Given the description of an element on the screen output the (x, y) to click on. 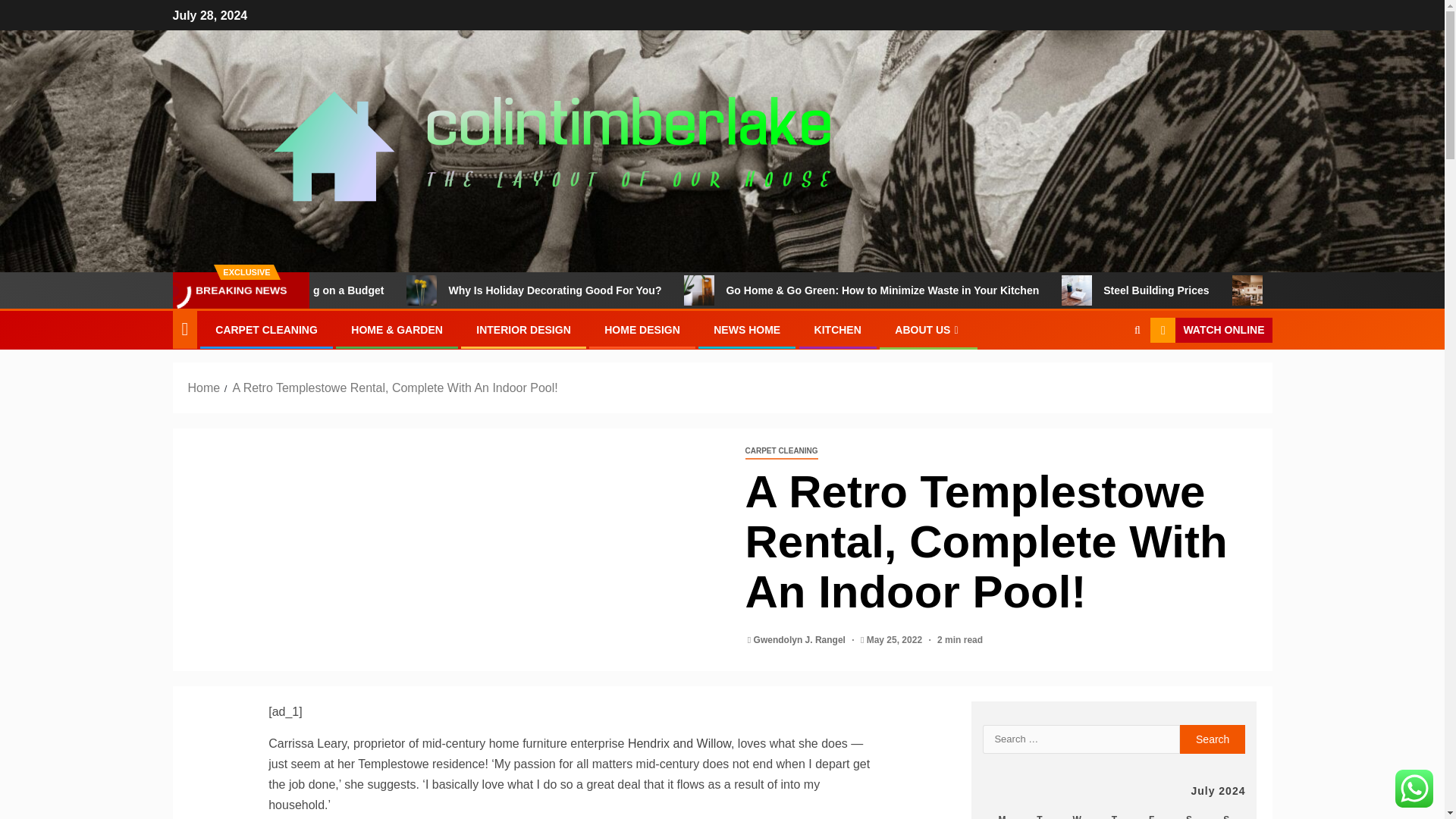
Why Is Holiday Decorating Good For You? (485, 290)
A Retro Templestowe Rental, Complete With An Indoor Pool! (394, 387)
Gwendolyn J. Rangel (801, 639)
Home Staging on a Budget (410, 290)
NEWS HOME (746, 329)
Why Is Holiday Decorating Good For You? (648, 290)
Search (1212, 738)
Hendrix and Willow (678, 743)
Search (1107, 376)
Steel Building Prices (1137, 290)
CARPET CLEANING (780, 451)
CARPET CLEANING (266, 329)
KITCHEN (837, 329)
Home (204, 387)
WATCH ONLINE (1210, 330)
